Given the description of an element on the screen output the (x, y) to click on. 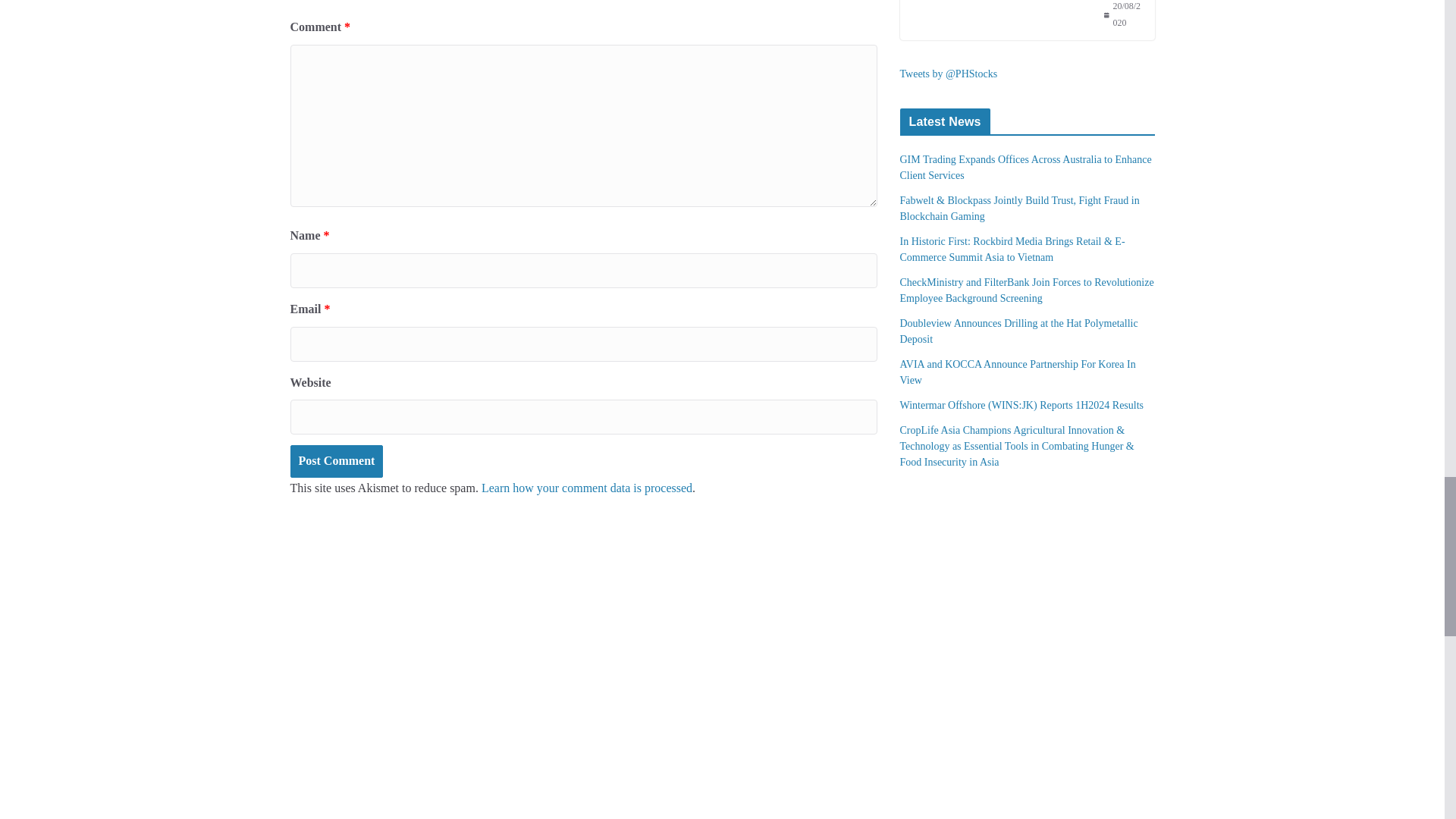
Post Comment (335, 461)
